Given the description of an element on the screen output the (x, y) to click on. 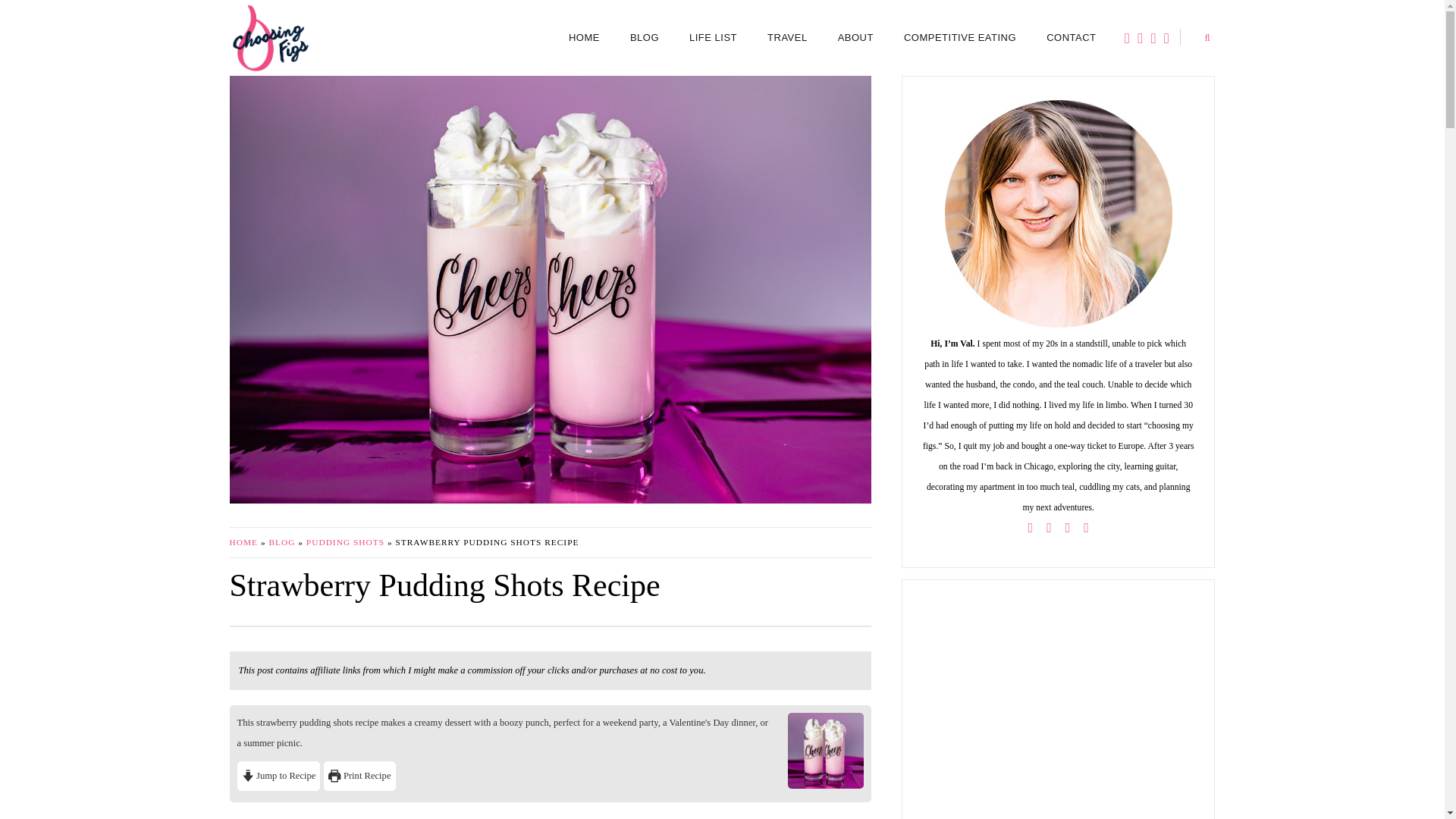
LIFE LIST (713, 38)
TRAVEL (787, 38)
Advertisement (1057, 709)
